Given the description of an element on the screen output the (x, y) to click on. 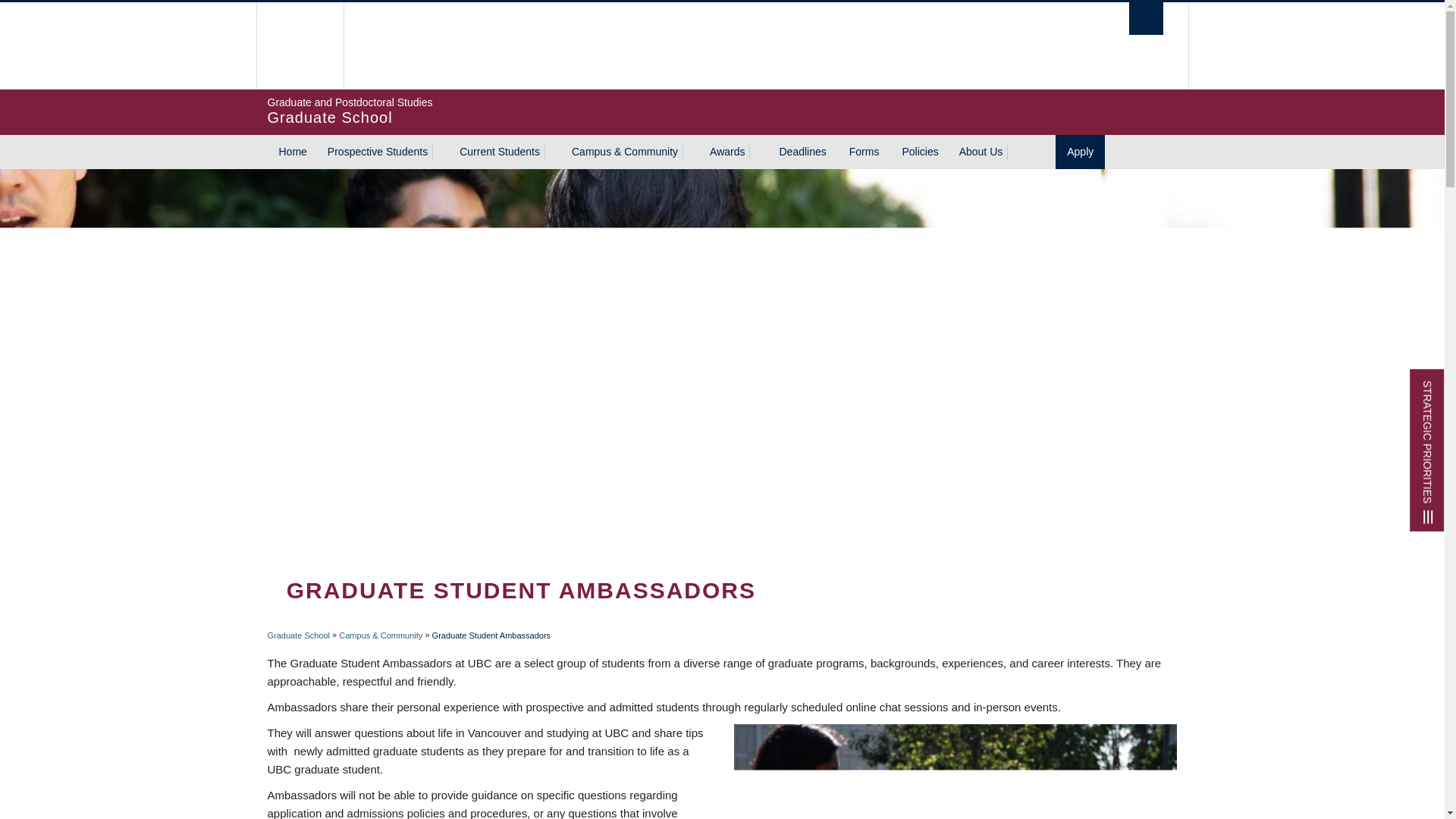
The University of British Columbia (299, 45)
Prospective Students (375, 151)
Current Students (623, 45)
Home (496, 151)
UBC Search (291, 151)
